Given the description of an element on the screen output the (x, y) to click on. 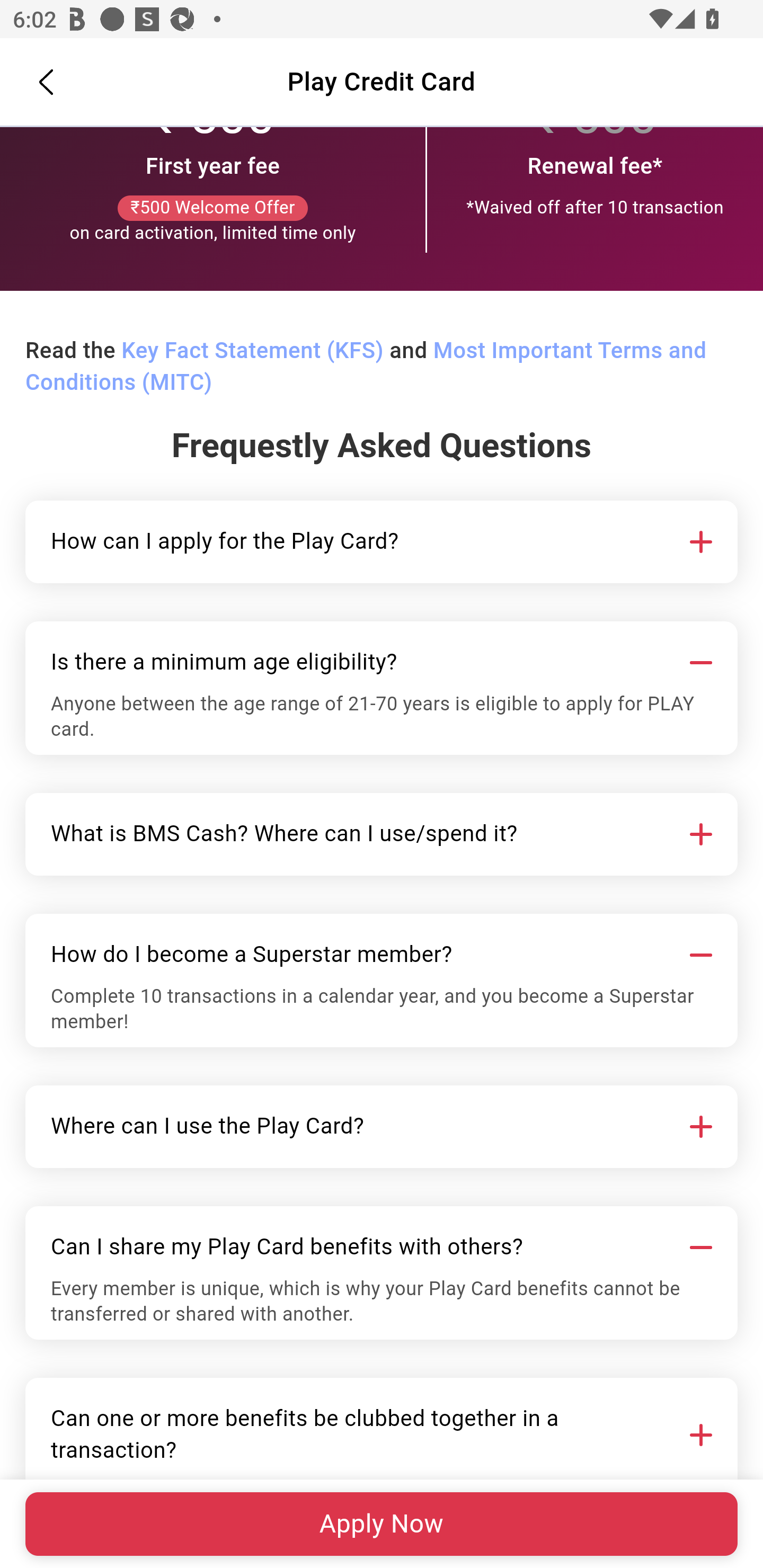
Most Important Terms and Conditions (MITC) (366, 367)
Key Fact Statement (KFS) (252, 351)
